Given the description of an element on the screen output the (x, y) to click on. 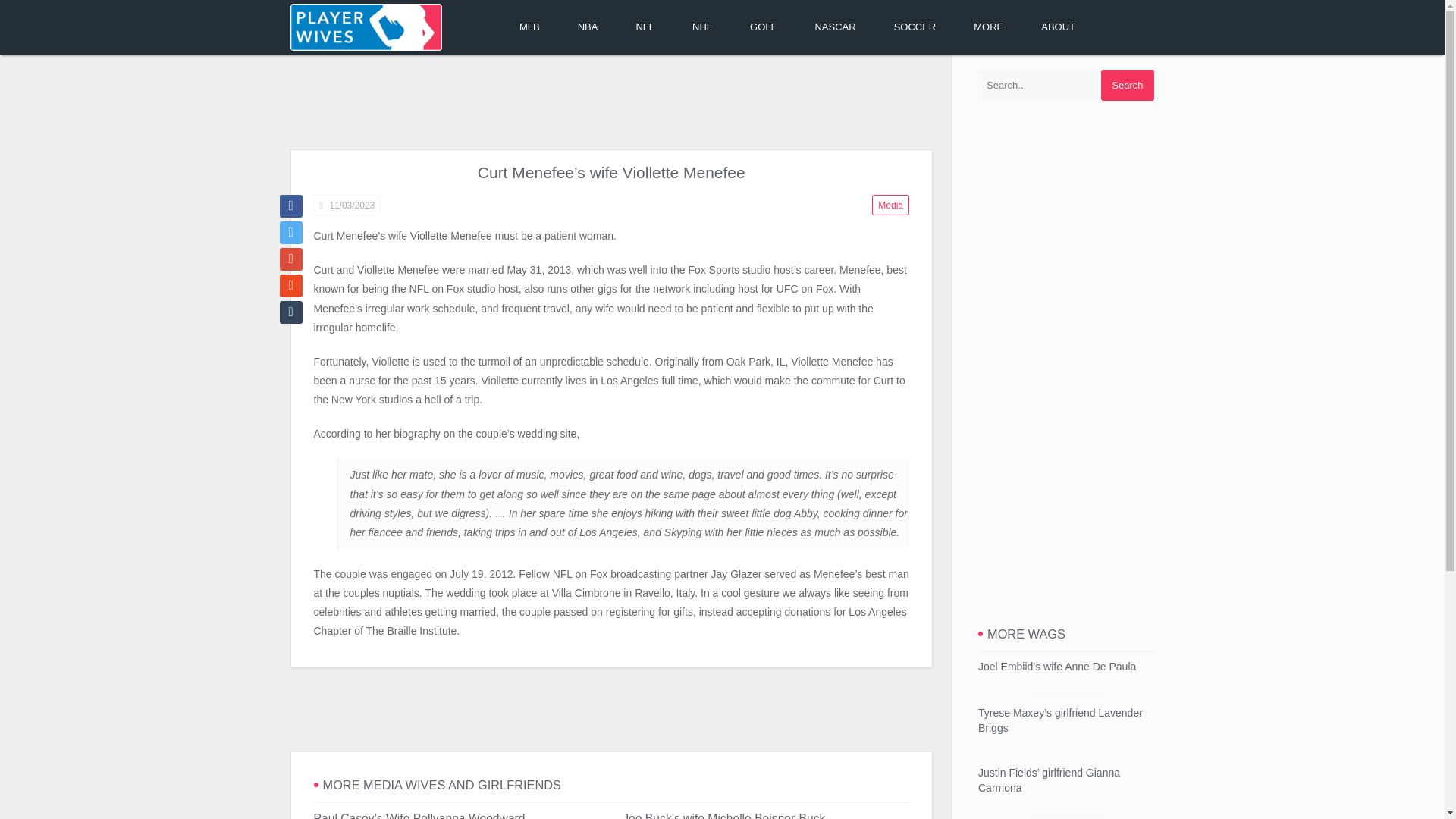
NASCAR Wives (834, 27)
NBA Wives (588, 27)
About PlayerWives.com (1058, 27)
NHL (701, 27)
Golf Wives (762, 27)
NFL Wives (643, 27)
search (1127, 84)
Soccer Wives (915, 27)
GOLF (762, 27)
ABOUT (1058, 27)
MORE (988, 27)
Advertisement (610, 709)
Media (889, 204)
NFL (643, 27)
search (1127, 84)
